Given the description of an element on the screen output the (x, y) to click on. 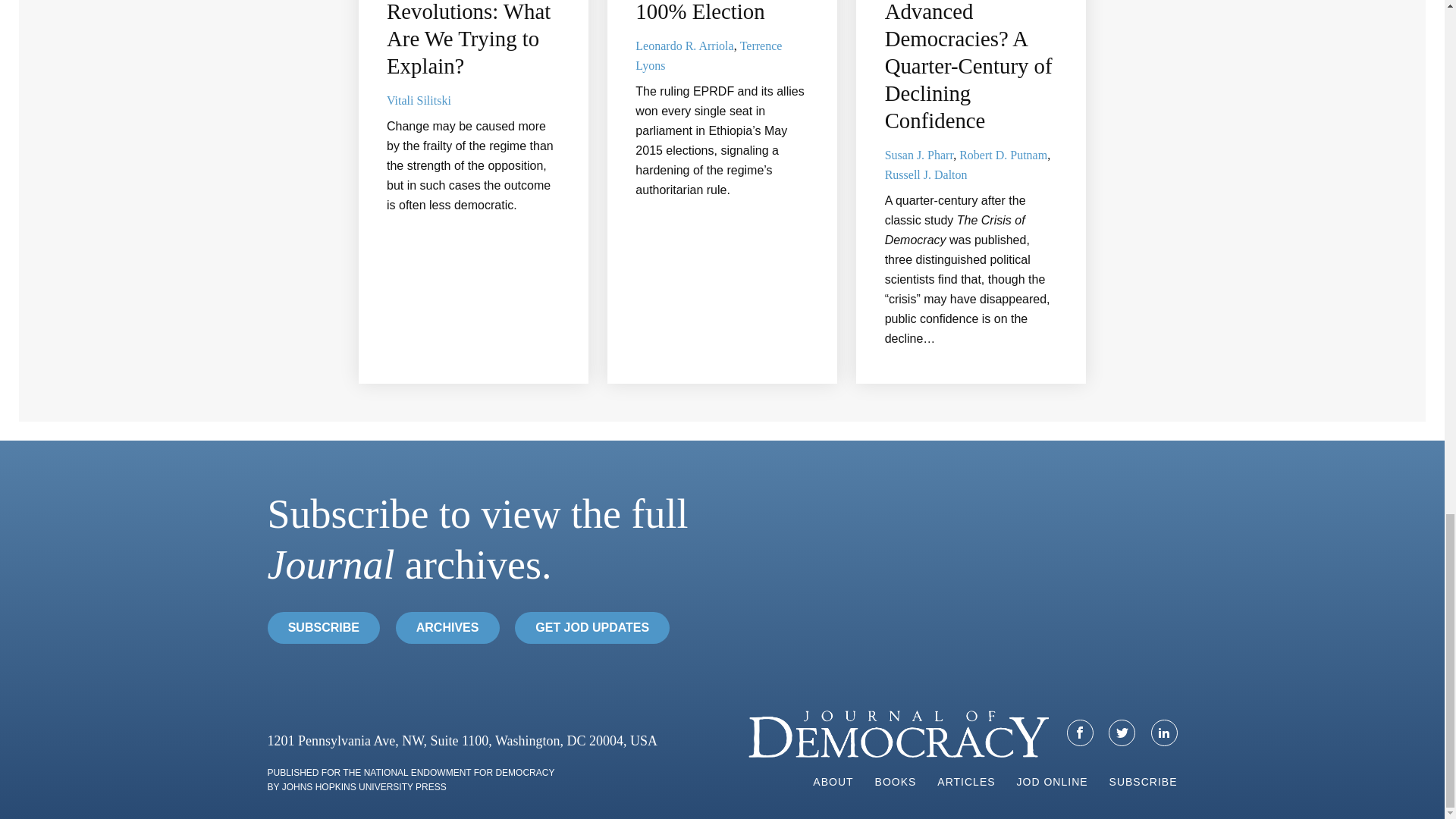
Twitter (1121, 732)
LinkedIn (1164, 732)
linkedin (1163, 732)
twitter (1122, 732)
facebook (1080, 732)
Facebook (1080, 732)
